Given the description of an element on the screen output the (x, y) to click on. 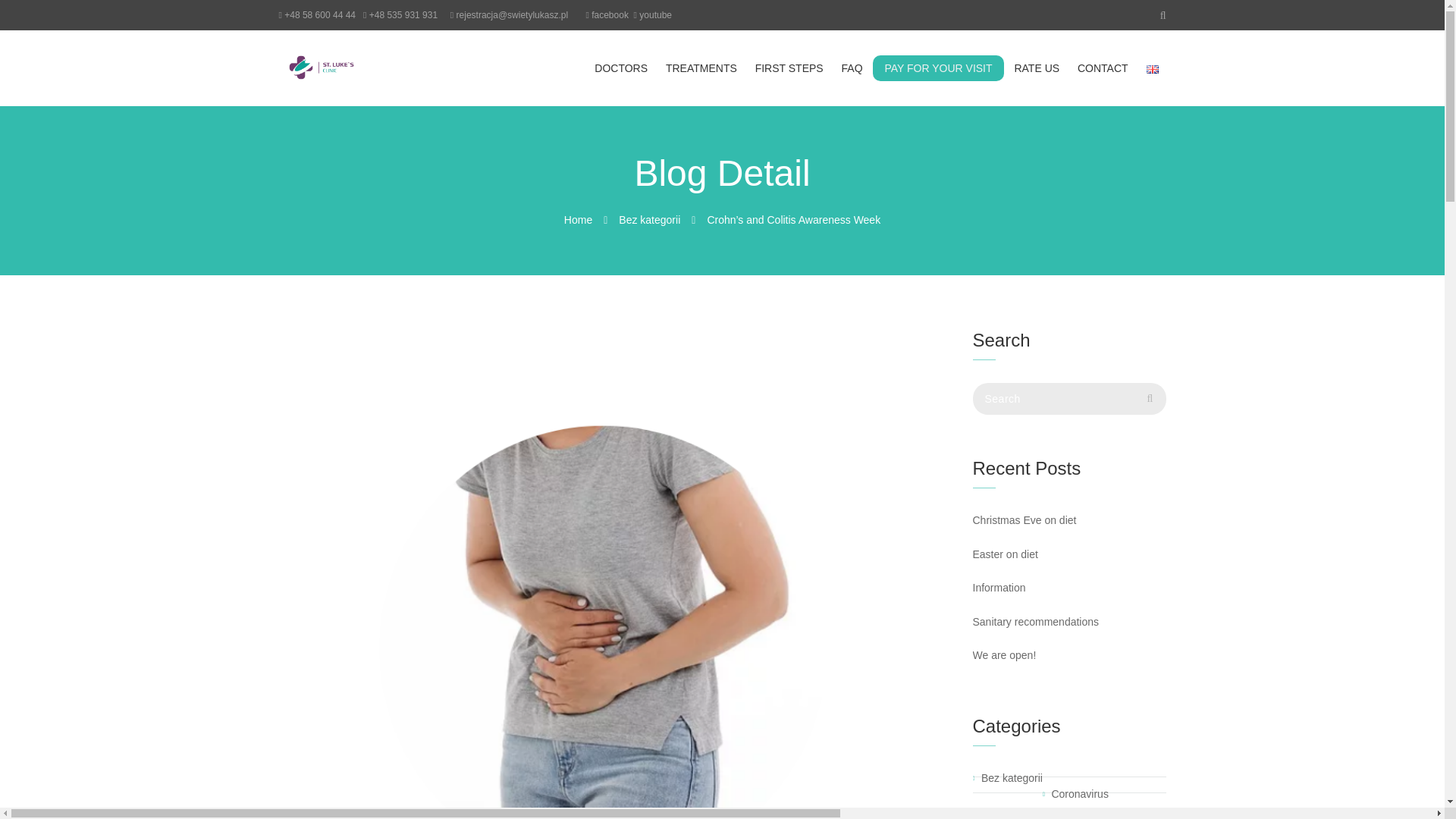
PAY FOR YOUR VISIT (937, 68)
Bez kategorii (1007, 778)
Bez kategorii (648, 219)
youtube (655, 14)
DOCTORS (620, 68)
Diagnostic (1001, 811)
Information (1069, 587)
TREATMENTS (701, 68)
Medicine with a mission (336, 68)
Christmas Eve on diet (1069, 520)
